Given the description of an element on the screen output the (x, y) to click on. 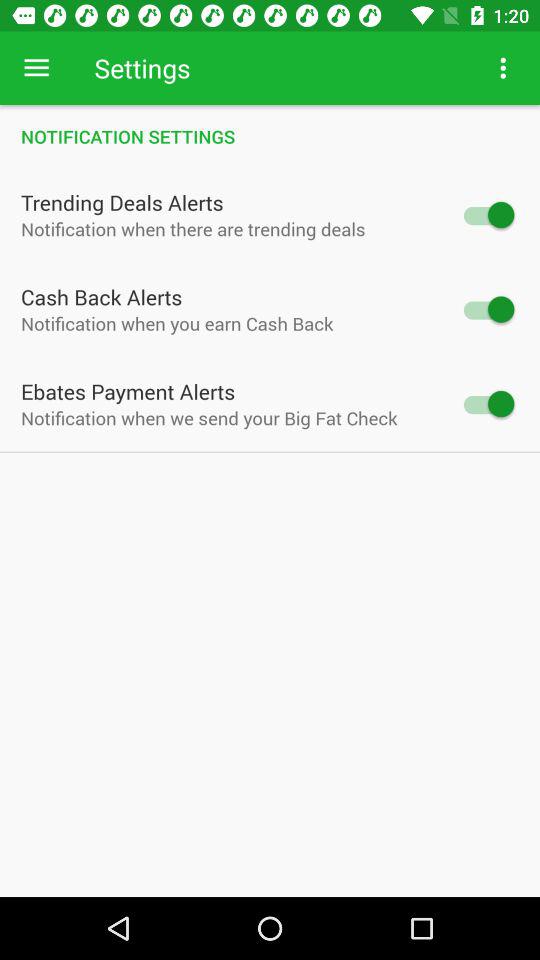
turn on item above the trending deals alerts icon (270, 136)
